Given the description of an element on the screen output the (x, y) to click on. 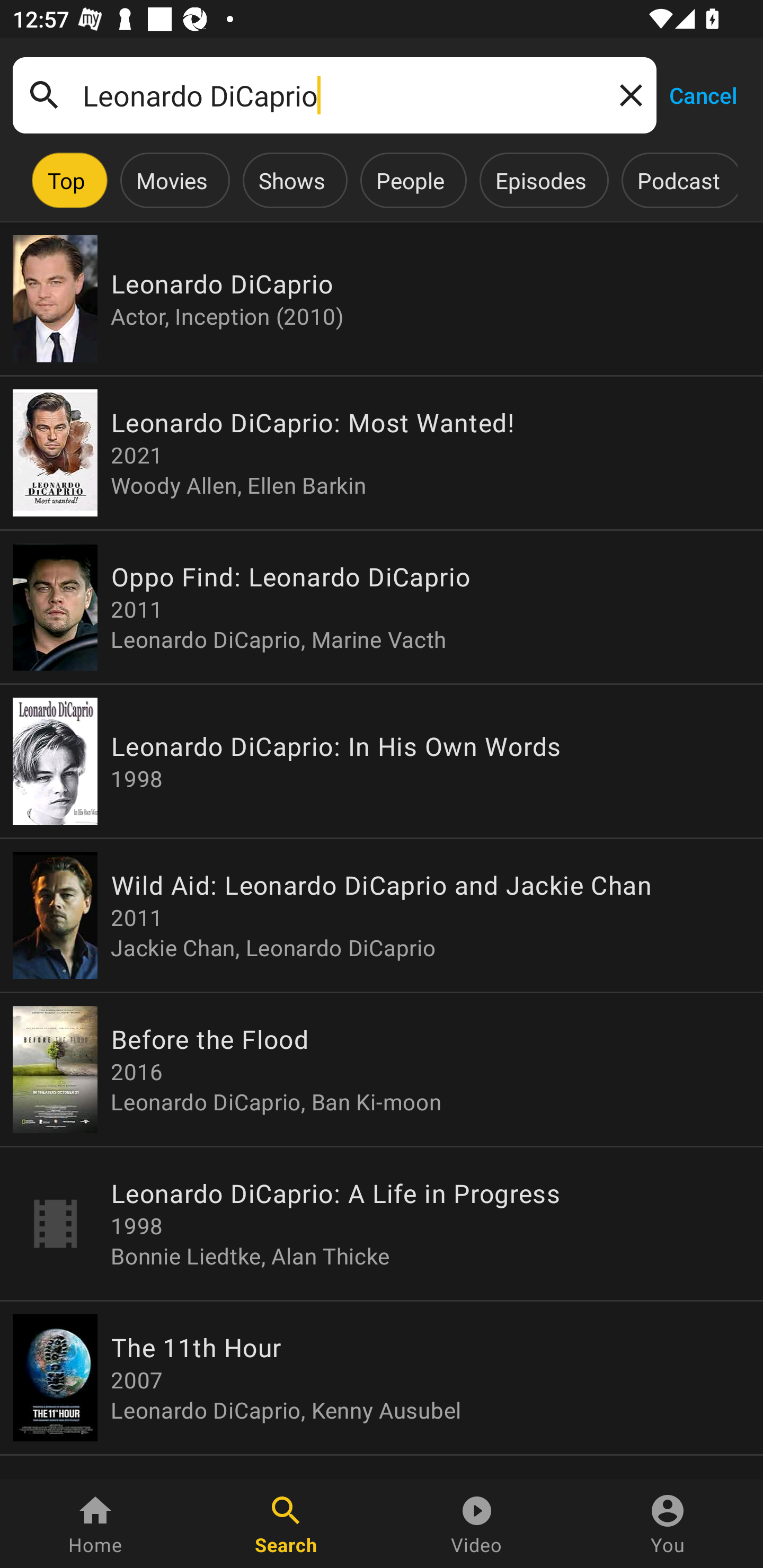
Clear query (627, 94)
Cancel (703, 94)
Leonardo DiCaprio (334, 95)
Top (66, 180)
Movies (171, 180)
Shows (291, 180)
People (410, 180)
Episodes (540, 180)
Podcast (678, 180)
Leonardo DiCaprio Actor, Inception (2010) (381, 298)
Leonardo DiCaprio: In His Own Words 1998 (381, 761)
Home (95, 1523)
Video (476, 1523)
You (667, 1523)
